Given the description of an element on the screen output the (x, y) to click on. 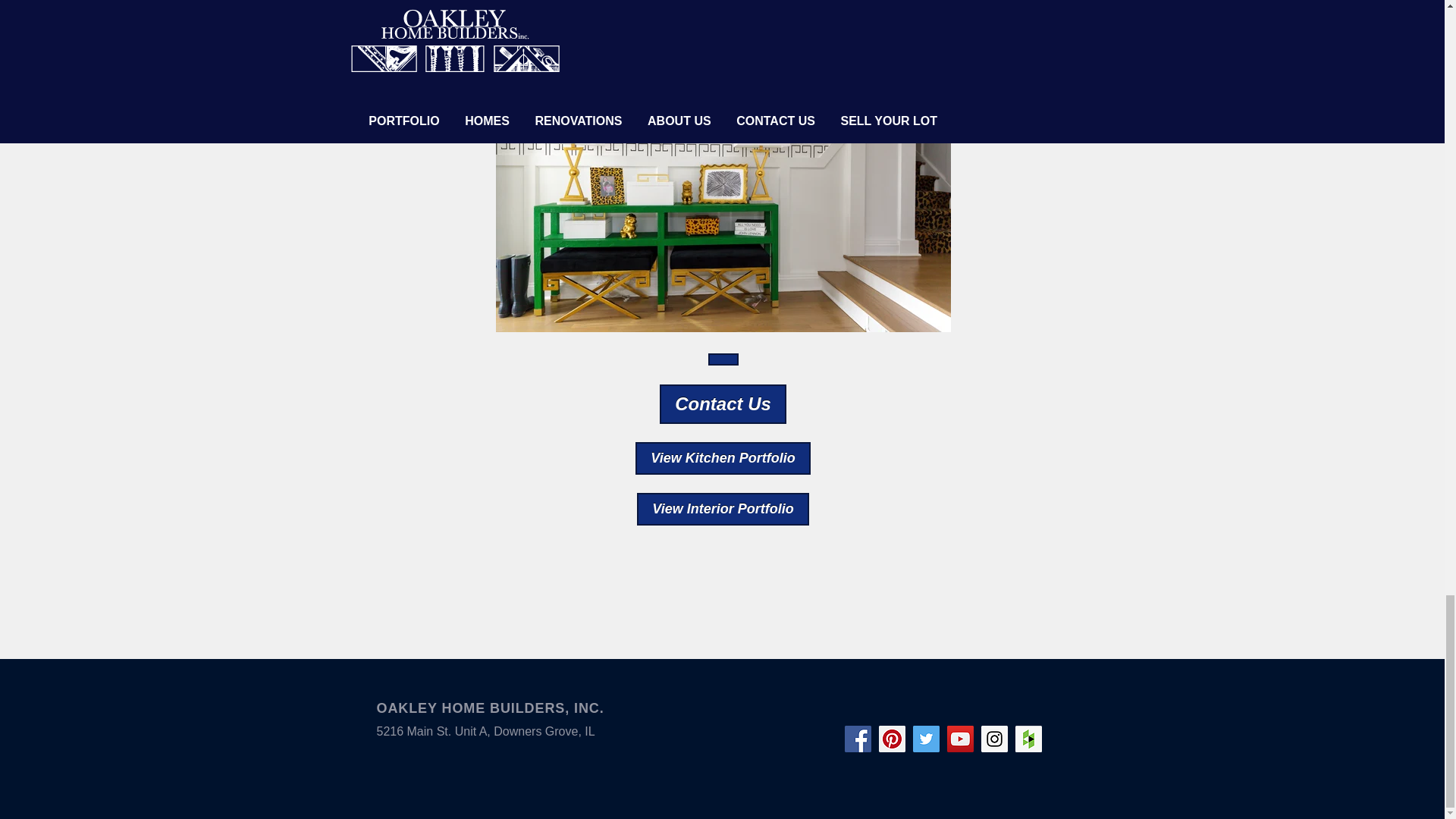
View Kitchen Portfolio (721, 458)
Contact Us (722, 358)
Contact Us (722, 404)
View Interior Portfolio (722, 509)
